Given the description of an element on the screen output the (x, y) to click on. 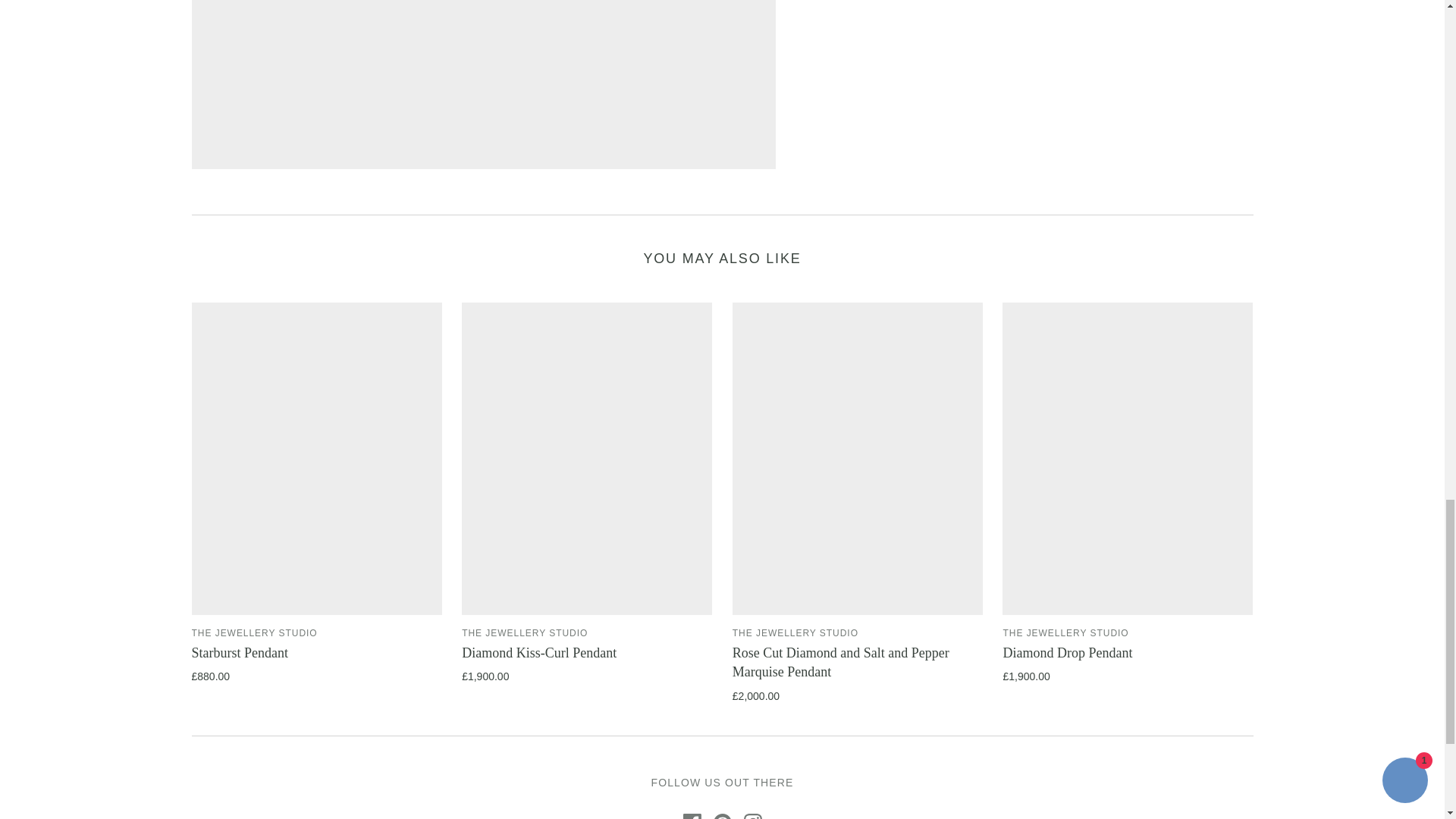
Pinterest Icon (721, 816)
The Jewellery Studio (1065, 633)
The Jewellery Studio (524, 633)
The Jewellery Studio (795, 633)
Instagram Icon (751, 816)
Facebook Icon (691, 816)
The Jewellery Studio (253, 633)
